Given the description of an element on the screen output the (x, y) to click on. 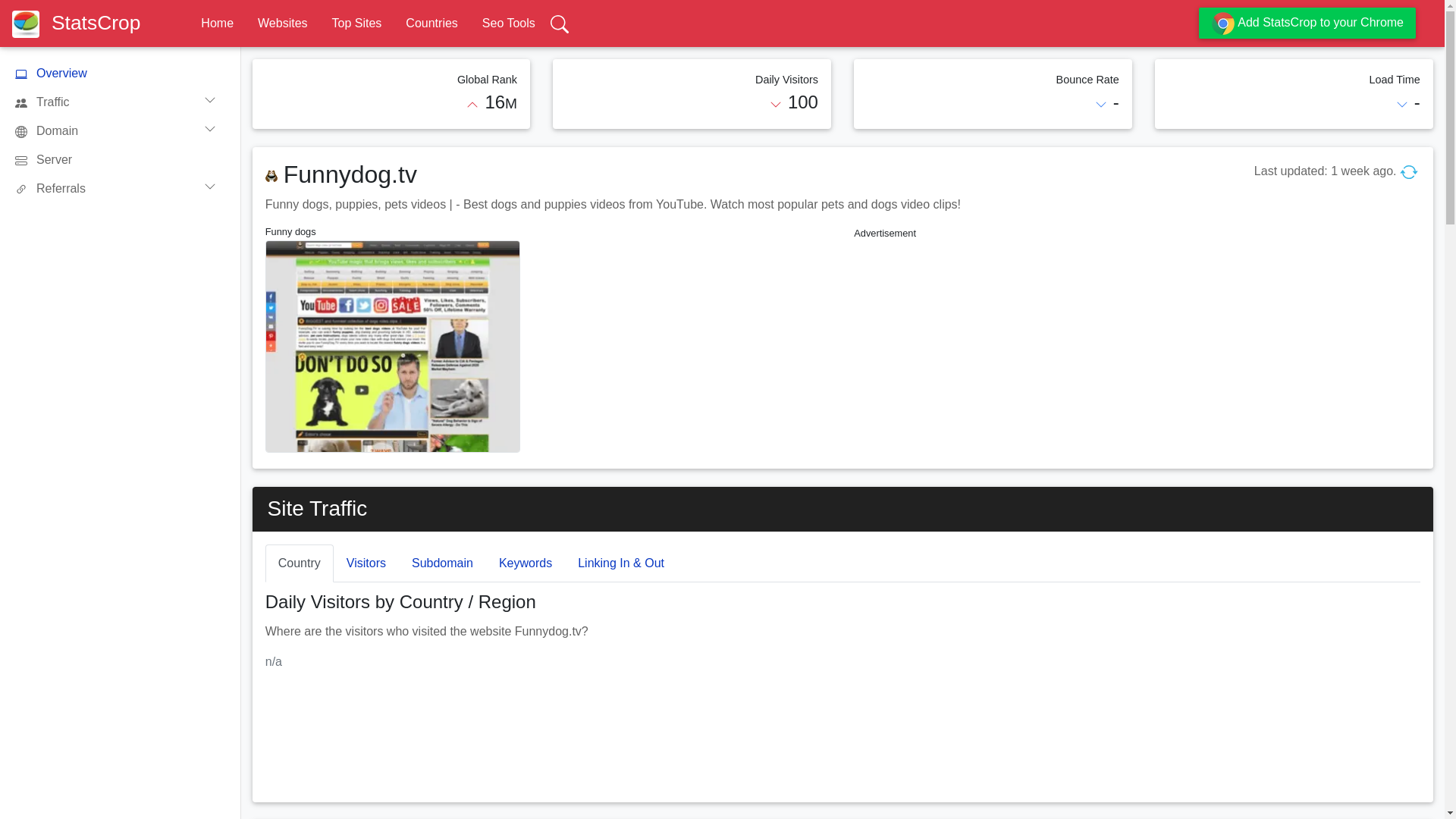
Top Sites (356, 22)
StatsCrop (81, 22)
Funny dogs (391, 231)
Websites (282, 22)
Refresh (1408, 170)
Country (298, 563)
Top Sites (356, 22)
Add StatsCrop to your Chrome (1306, 22)
- (1417, 101)
Websites (282, 22)
Add StatsCrop to your Chrome (1306, 22)
Server (121, 159)
Home (216, 22)
Free Seo Tools (508, 22)
Funnydog.tv (349, 174)
